Given the description of an element on the screen output the (x, y) to click on. 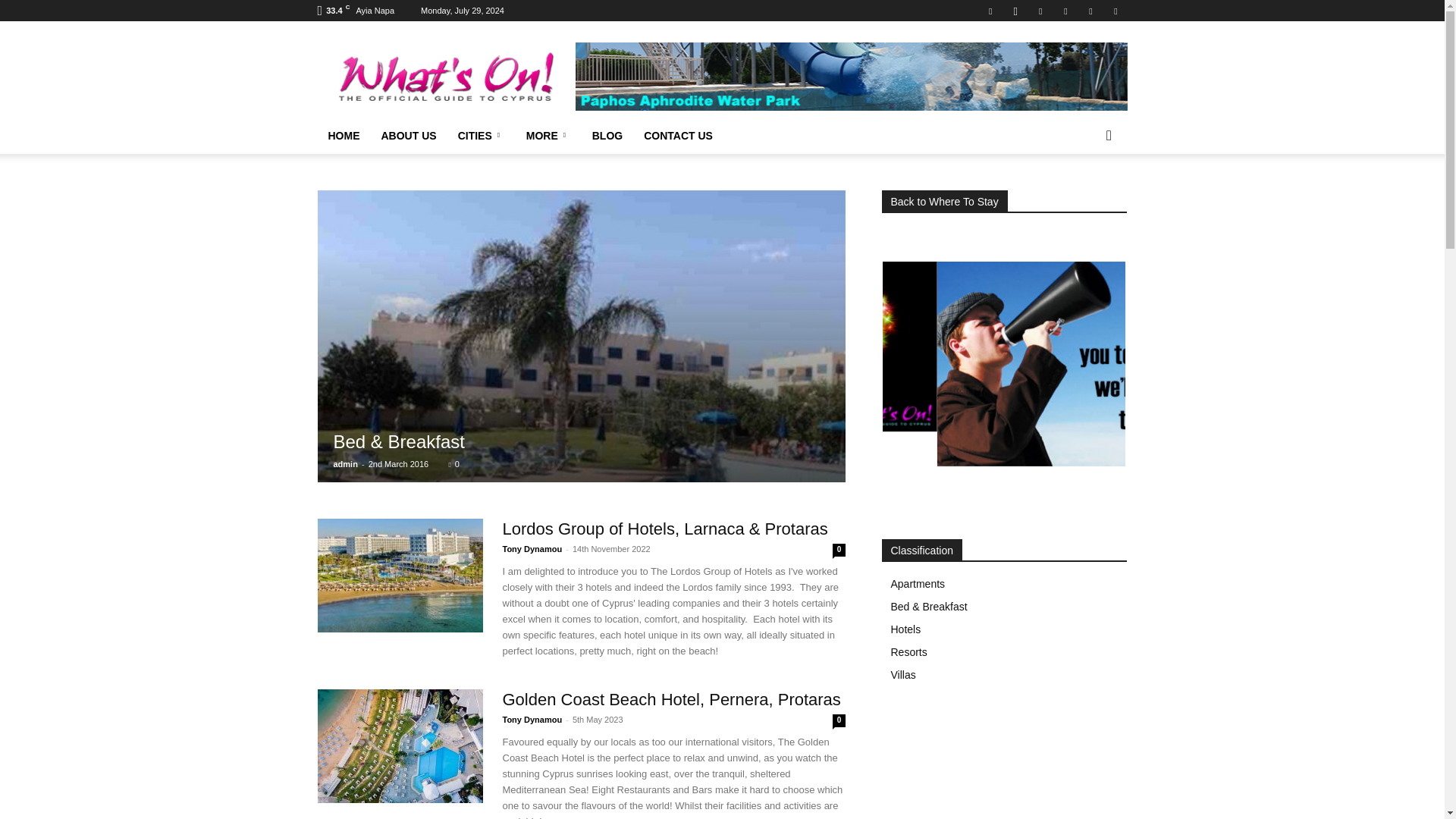
Youtube (1114, 10)
Instagram (1015, 10)
Linkedin (1040, 10)
Pinterest (1065, 10)
Twitter (1090, 10)
Facebook (989, 10)
